Given the description of an element on the screen output the (x, y) to click on. 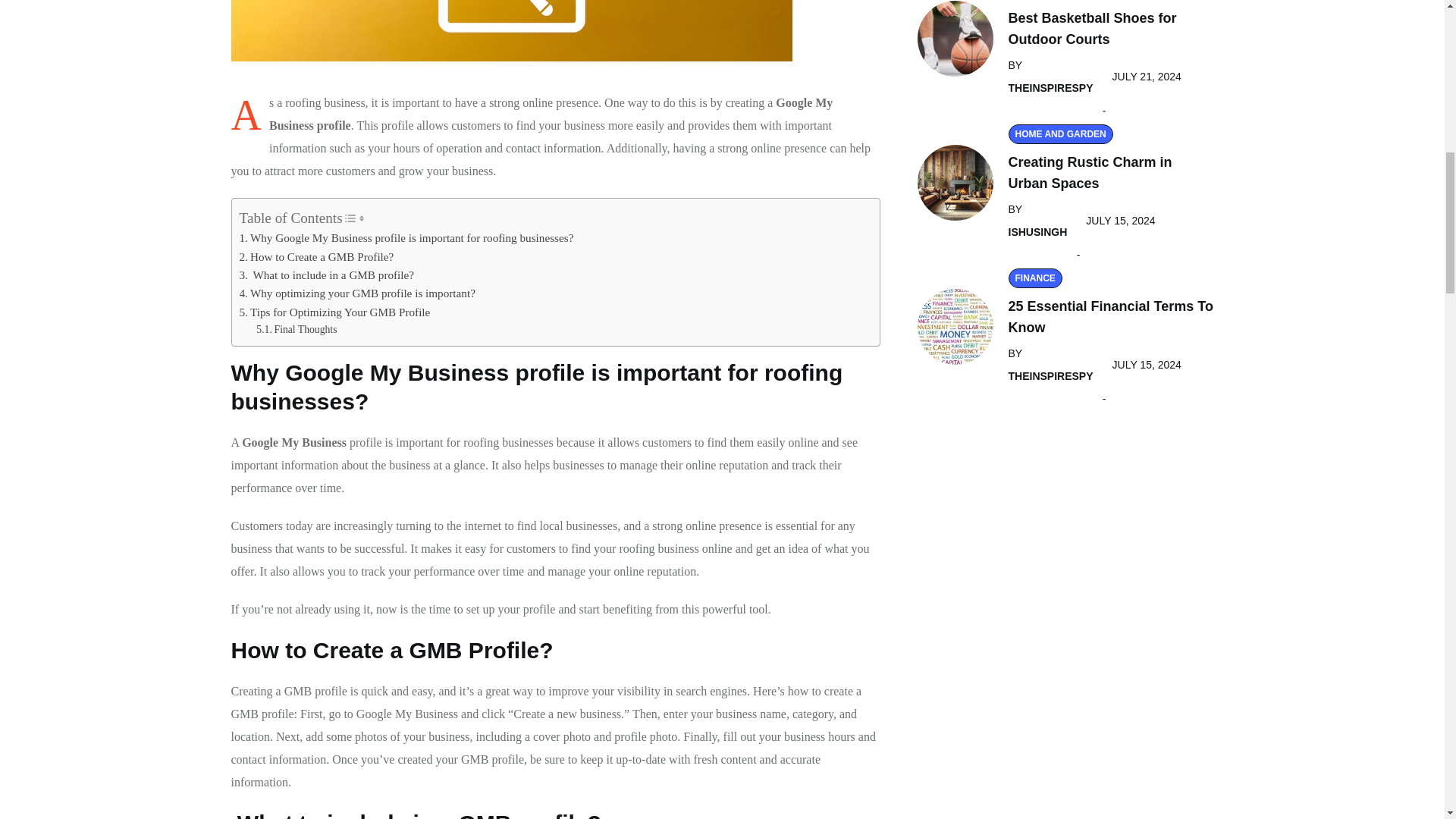
Final Thoughts (296, 329)
Posts by ishusingh (1038, 231)
Why optimizing your GMB profile is important? (358, 293)
Posts by TheInspireSpy (1051, 87)
Tips for Optimizing Your GMB Profile (335, 312)
Posts by TheInspireSpy (1051, 375)
How to Create a GMB Profile? (317, 257)
